Given the description of an element on the screen output the (x, y) to click on. 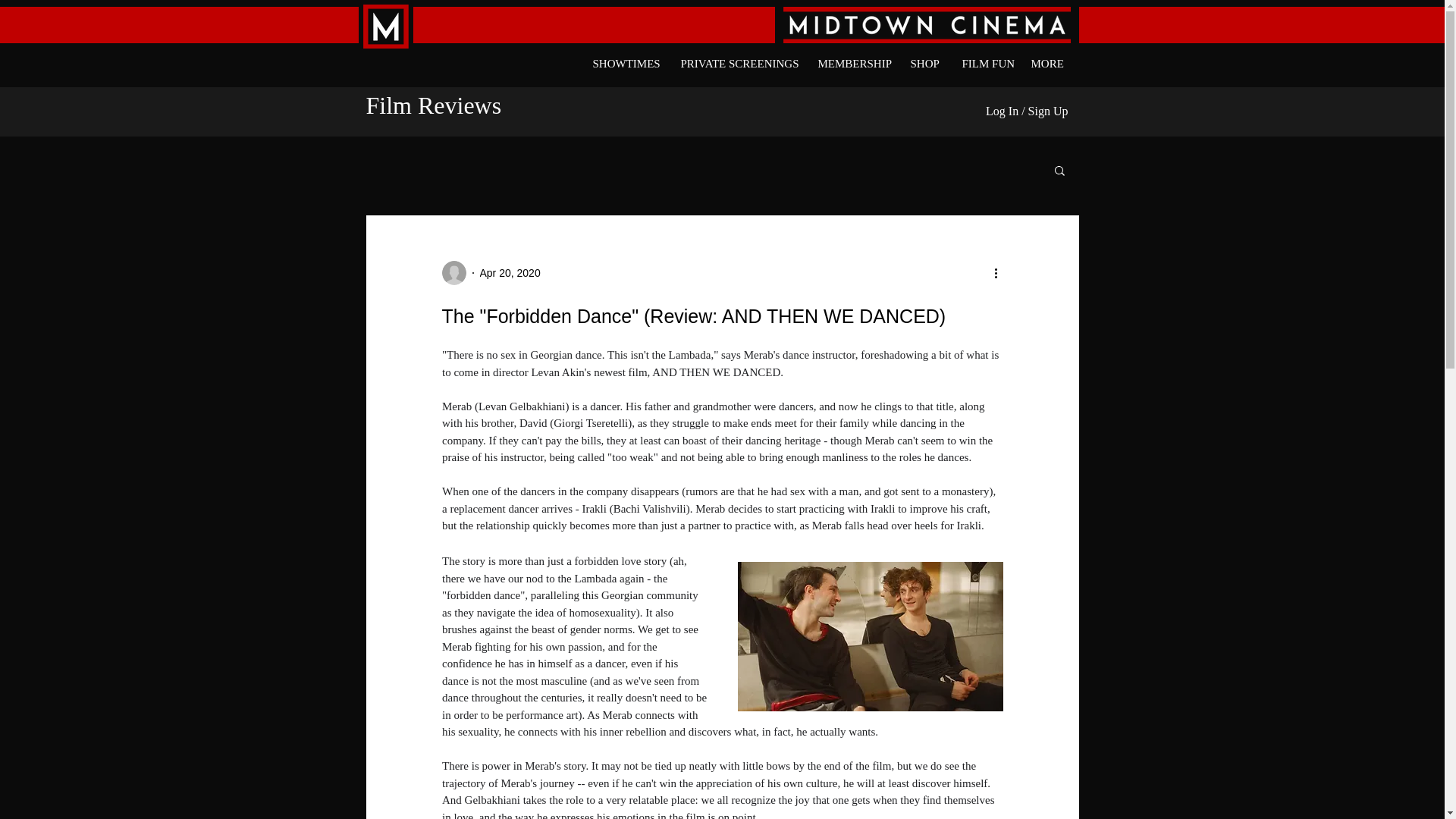
Apr 20, 2020 (509, 272)
SHOWTIMES (625, 56)
PRIVATE SCREENINGS (738, 56)
SHOP (924, 56)
MEMBERSHIP (852, 56)
